Given the description of an element on the screen output the (x, y) to click on. 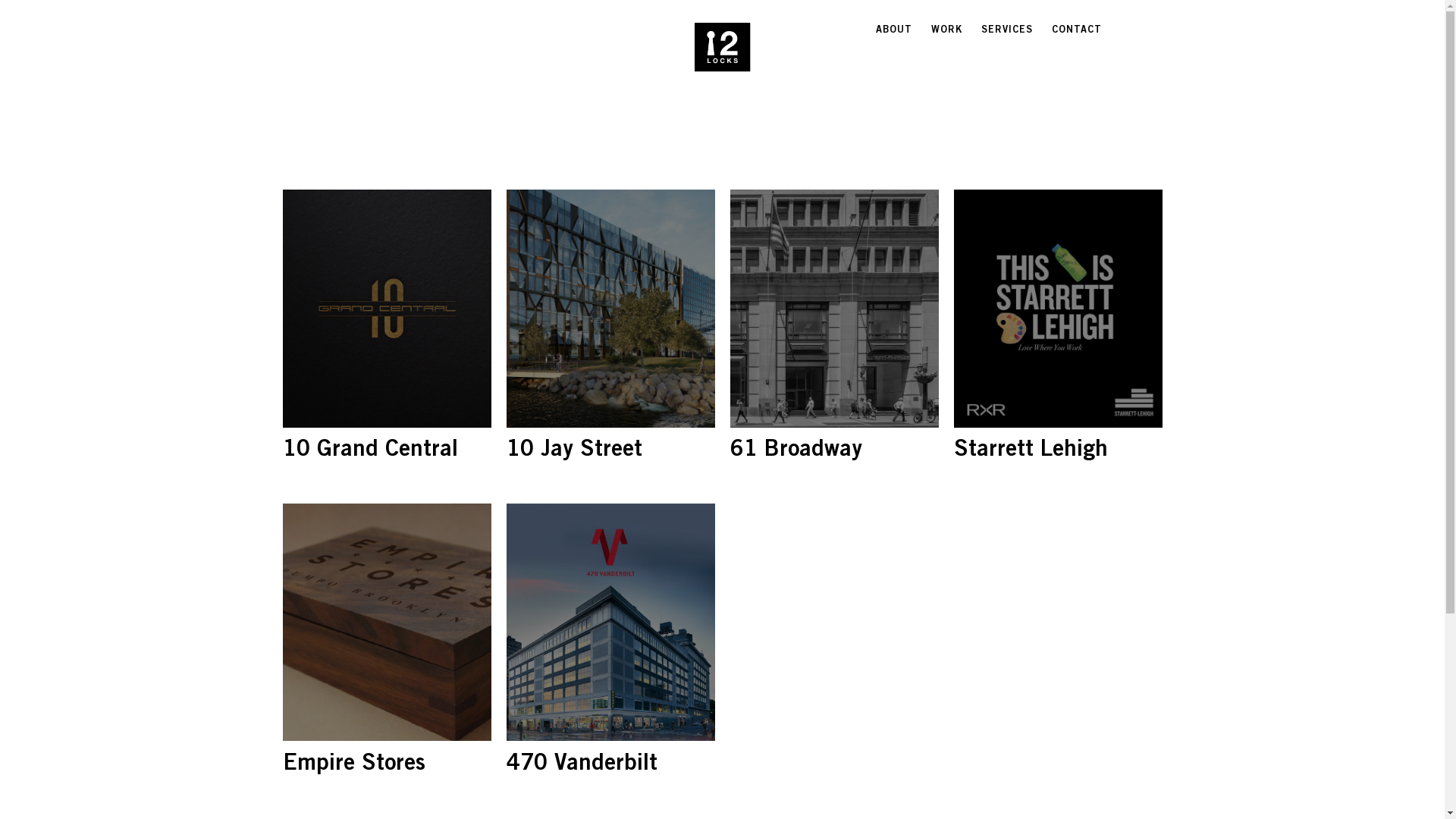
10 Jay Street Element type: text (610, 308)
CONTACT Element type: text (1076, 30)
61 Broadway Element type: text (833, 308)
Starrett Lehigh Element type: text (1058, 308)
Empire Stores Element type: text (386, 622)
SERVICES Element type: text (1006, 30)
WORK Element type: text (946, 30)
ABOUT Element type: text (893, 30)
10 Grand Central Element type: text (386, 308)
470 Vanderbilt Element type: text (610, 622)
